Given the description of an element on the screen output the (x, y) to click on. 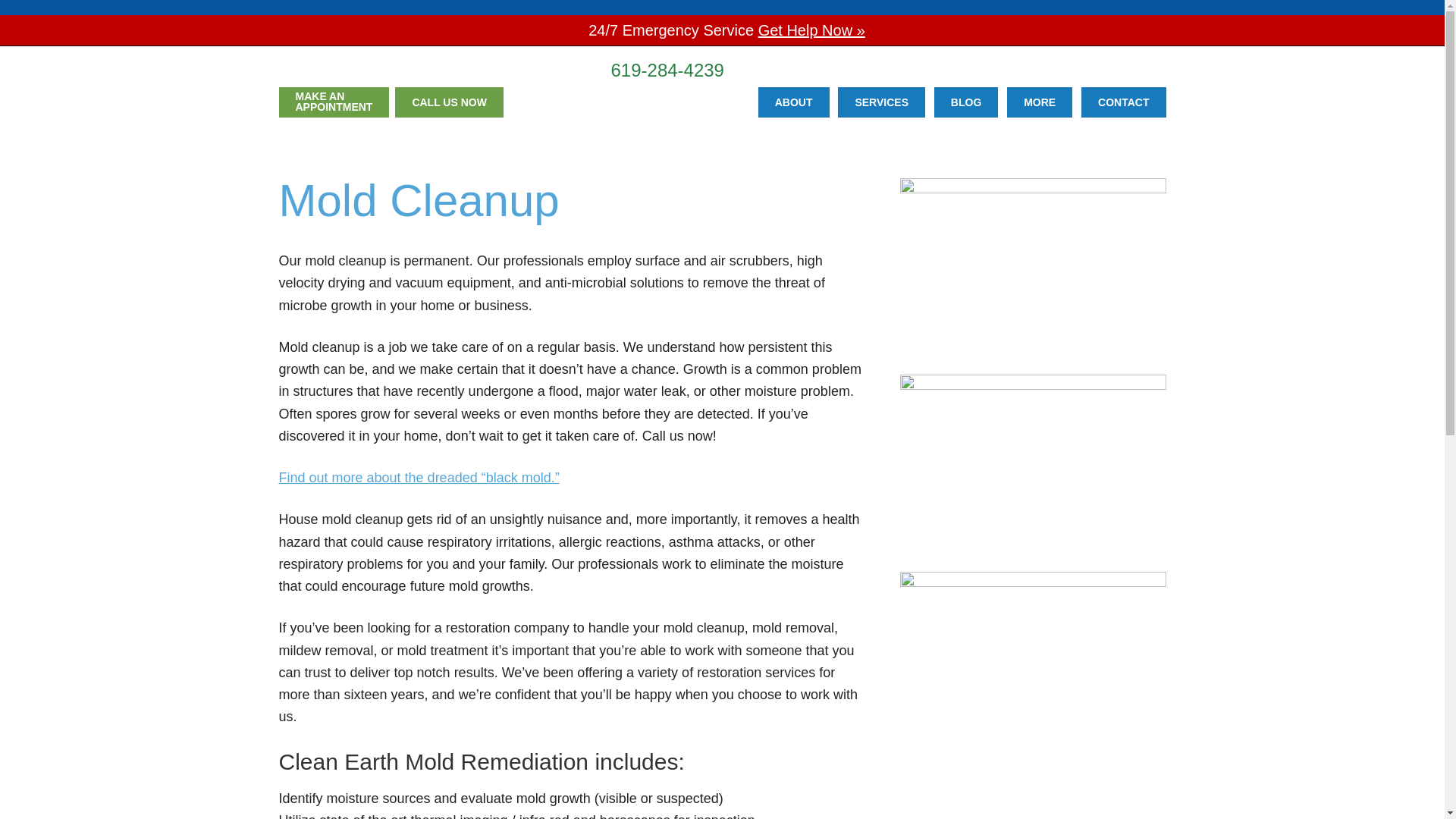
SERVICES (881, 101)
CALL US NOW (334, 101)
CLEAN EARTH RESTORATIONS (448, 101)
MORE (437, 68)
CONTACT (1039, 101)
619-284-4239 (1123, 101)
Skip to primary navigation (667, 69)
BLOG (793, 101)
